Given the description of an element on the screen output the (x, y) to click on. 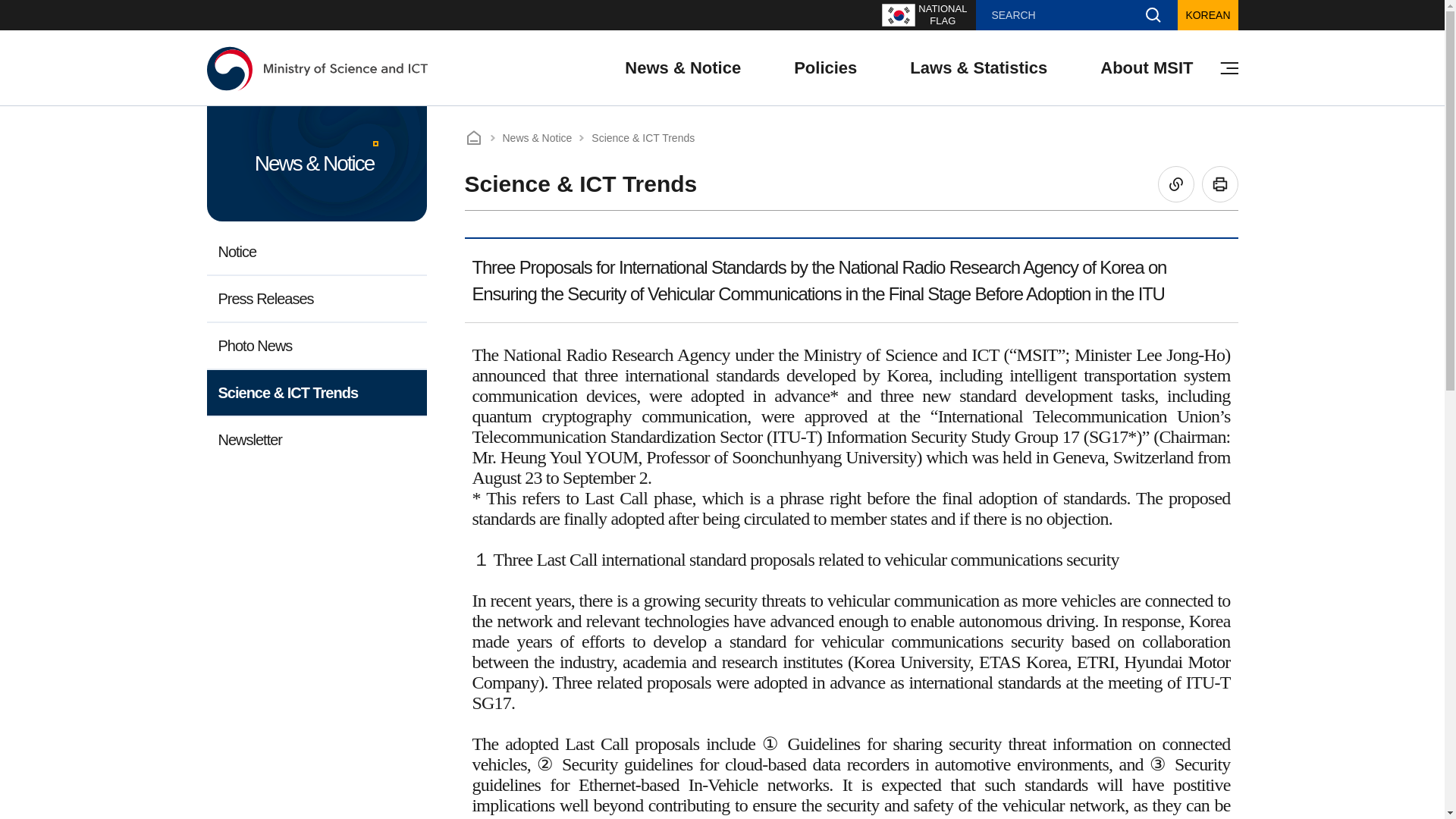
open new window (924, 15)
Policies (924, 15)
KOREAN (825, 68)
Ministry of Science and ICT (1207, 15)
SEARCH (318, 67)
SEARCH (1152, 14)
About MSIT (1076, 15)
